Given the description of an element on the screen output the (x, y) to click on. 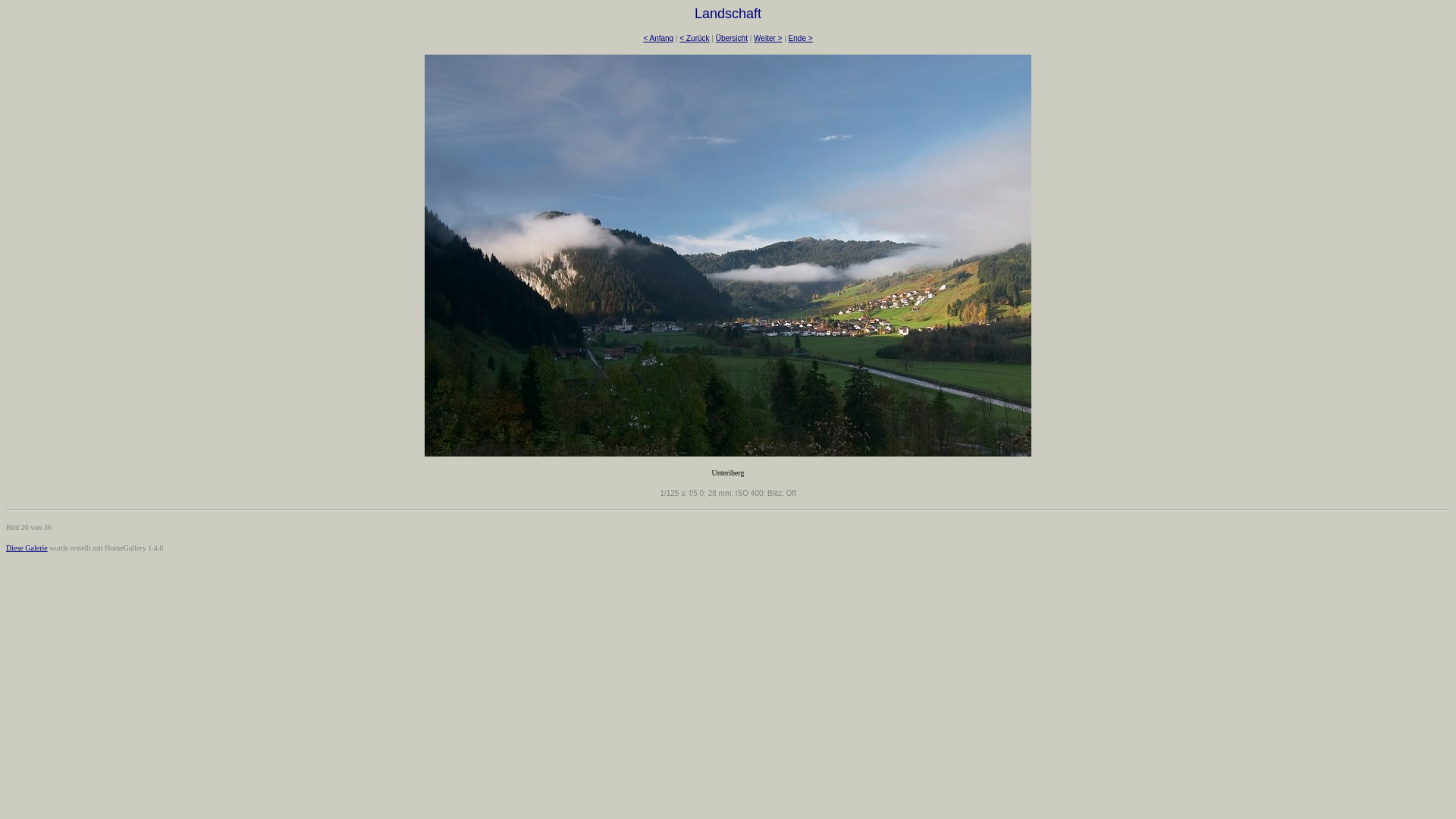
< Anfang Element type: text (658, 38)
Diese Galerie Element type: text (26, 547)
Weiter > Element type: text (767, 38)
Ende > Element type: text (800, 38)
